Given the description of an element on the screen output the (x, y) to click on. 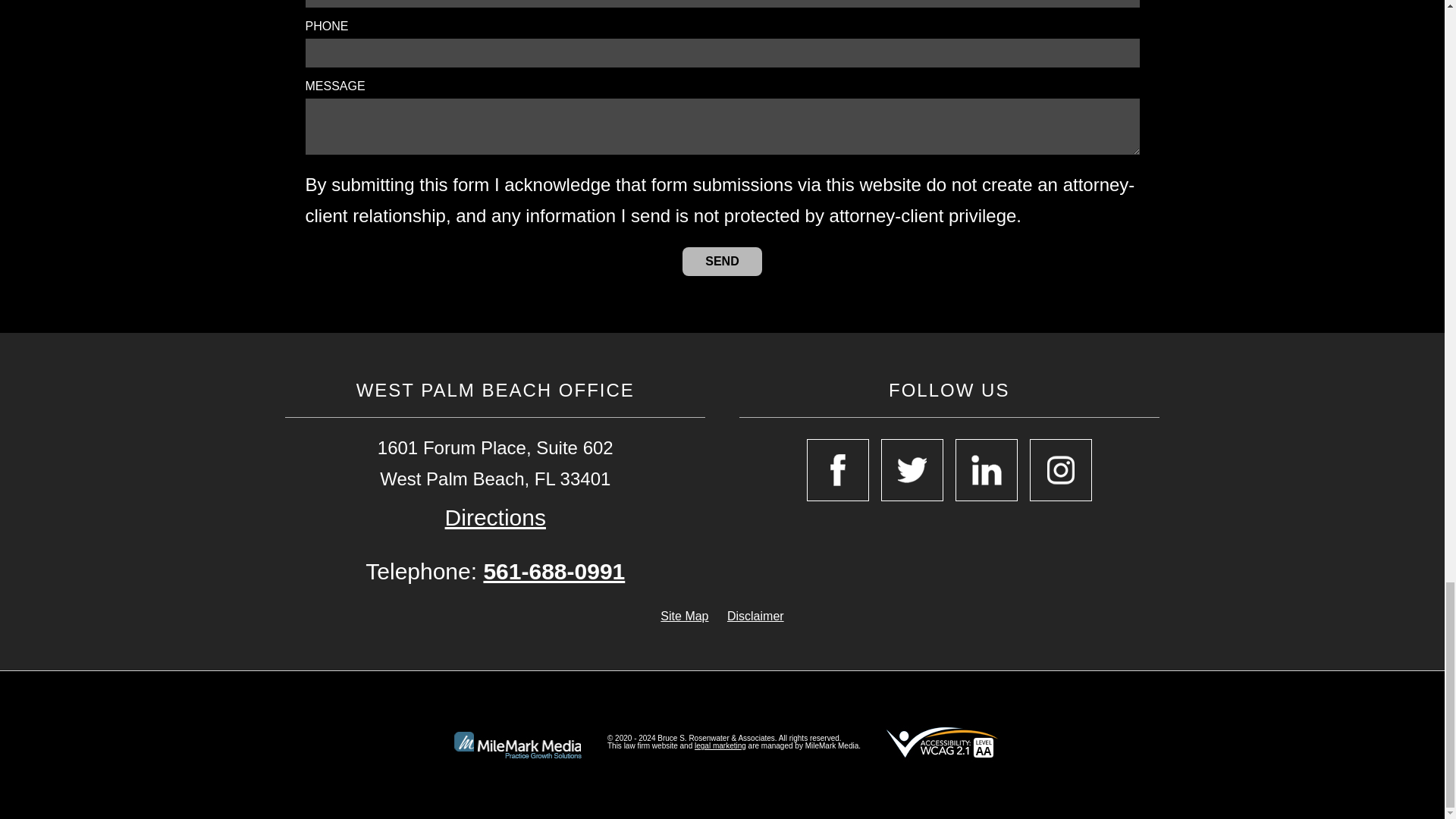
Open Instagram in a New Window (1060, 469)
Open Facebook in a New Window (837, 469)
Send (721, 261)
Open Twitter in a New Window (911, 469)
Open Linkedin in a New Window (986, 469)
Open Google Map in a New Window (495, 517)
